Given the description of an element on the screen output the (x, y) to click on. 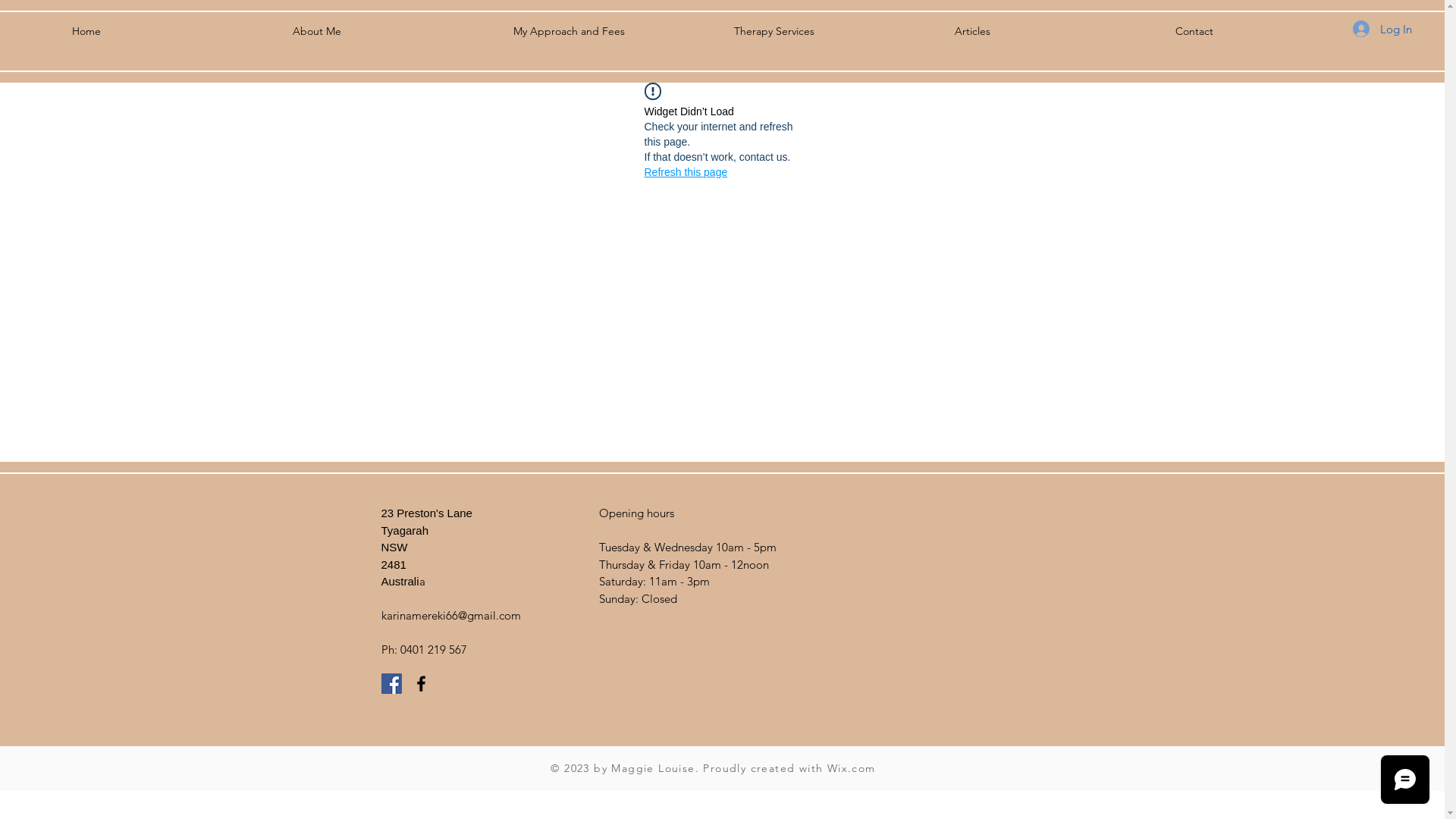
Therapy Services Element type: text (832, 31)
Articles Element type: text (1053, 31)
Log In Element type: text (1382, 28)
Home Element type: text (170, 31)
About Me Element type: text (391, 31)
Refresh this page Element type: text (686, 171)
My Approach and Fees Element type: text (612, 31)
karinamereki66@gmail.com Element type: text (450, 615)
Contact Element type: text (1273, 31)
Wix.com Element type: text (851, 768)
